Given the description of an element on the screen output the (x, y) to click on. 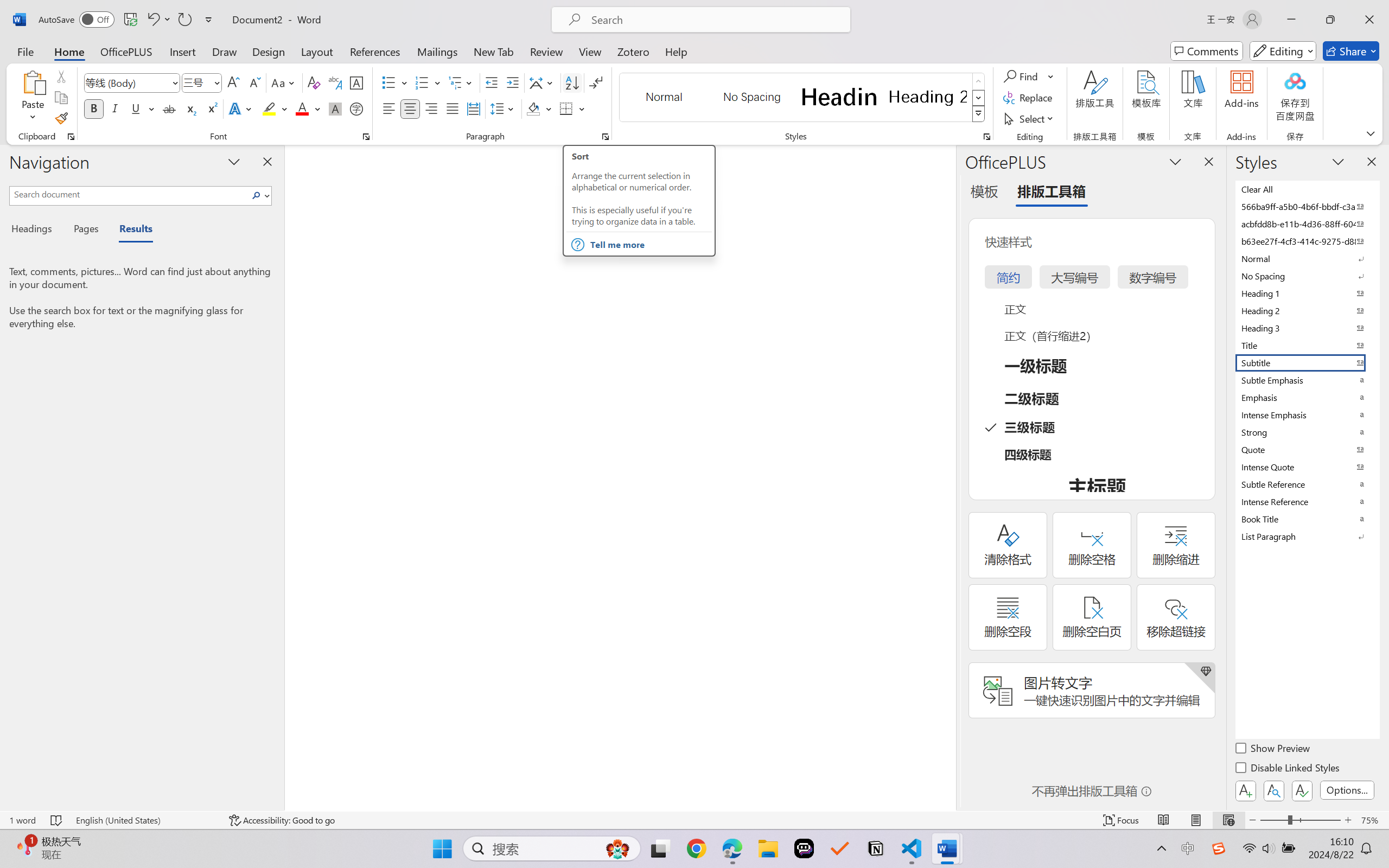
Language English (United States) (144, 819)
Align Right (431, 108)
Spelling and Grammar Check No Errors (56, 819)
Font Color Red (302, 108)
Subtitle (1306, 362)
Clear Formatting (313, 82)
Repeat Doc Close (184, 19)
Superscript (210, 108)
Quick Access Toolbar (127, 19)
Shading (539, 108)
Save (130, 19)
Numbering (428, 82)
